Given the description of an element on the screen output the (x, y) to click on. 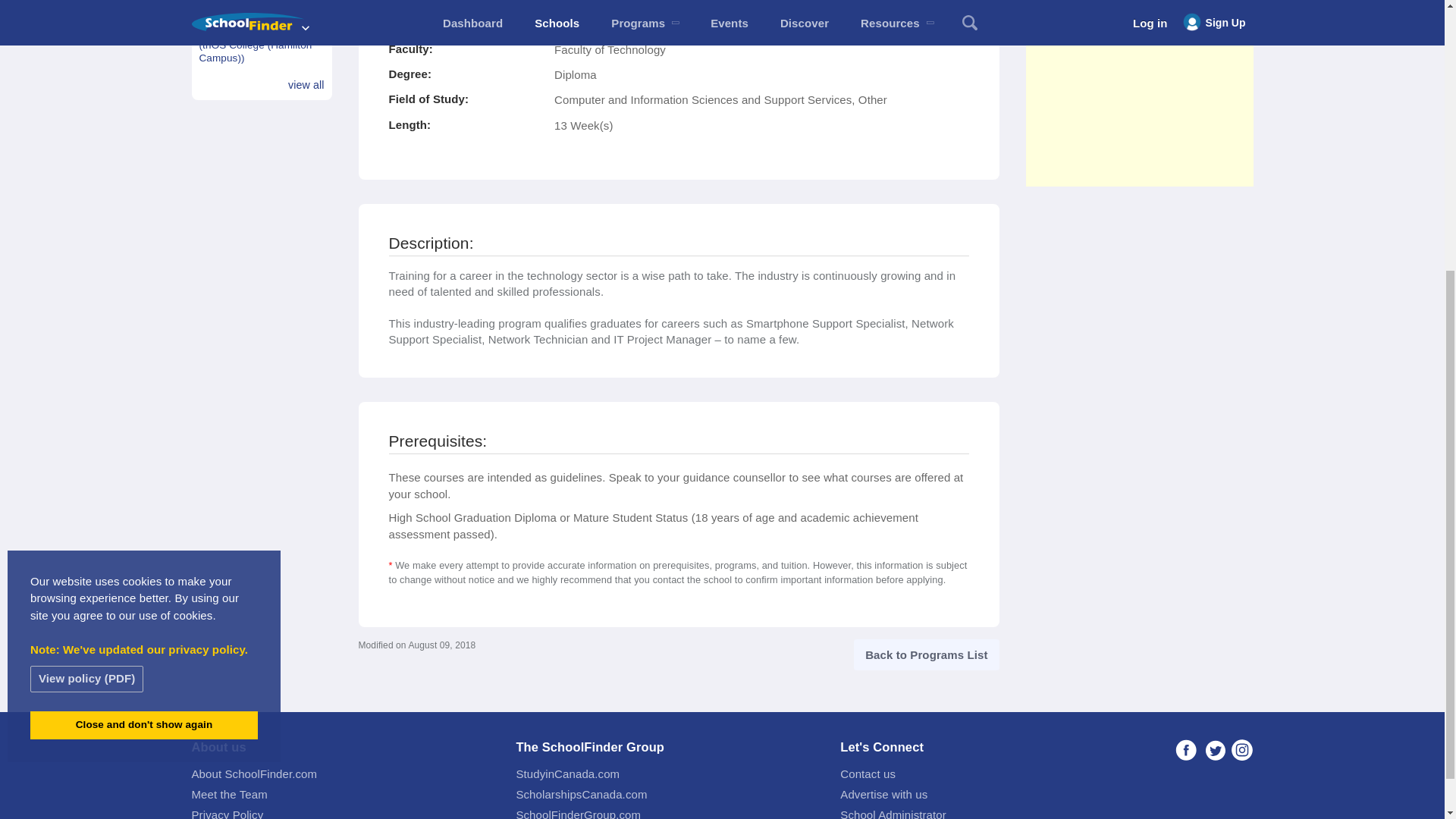
Close and don't show again (143, 305)
view all (306, 85)
Advertisement (1138, 93)
